Given the description of an element on the screen output the (x, y) to click on. 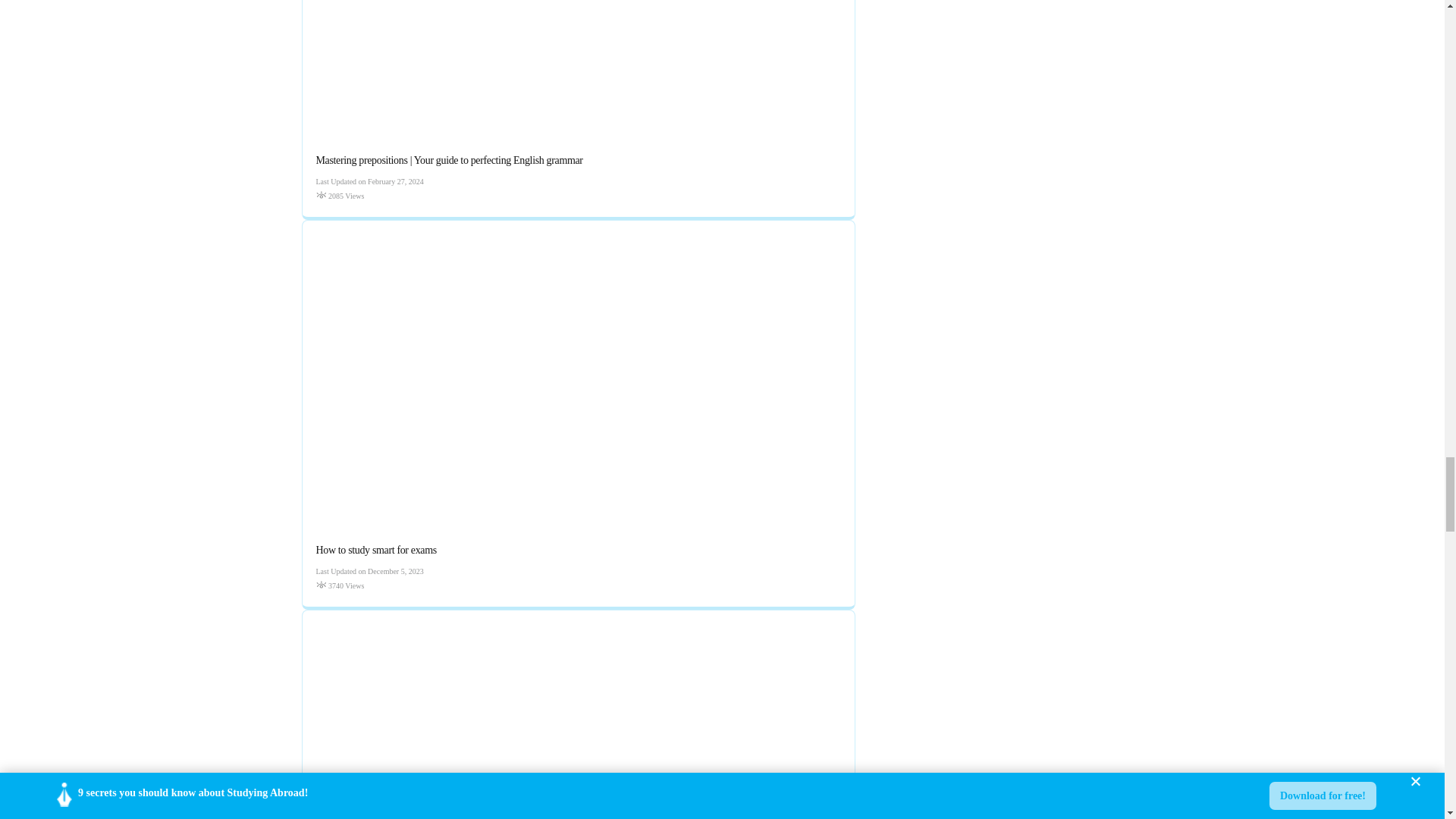
How to study smart for exams (375, 550)
